Given the description of an element on the screen output the (x, y) to click on. 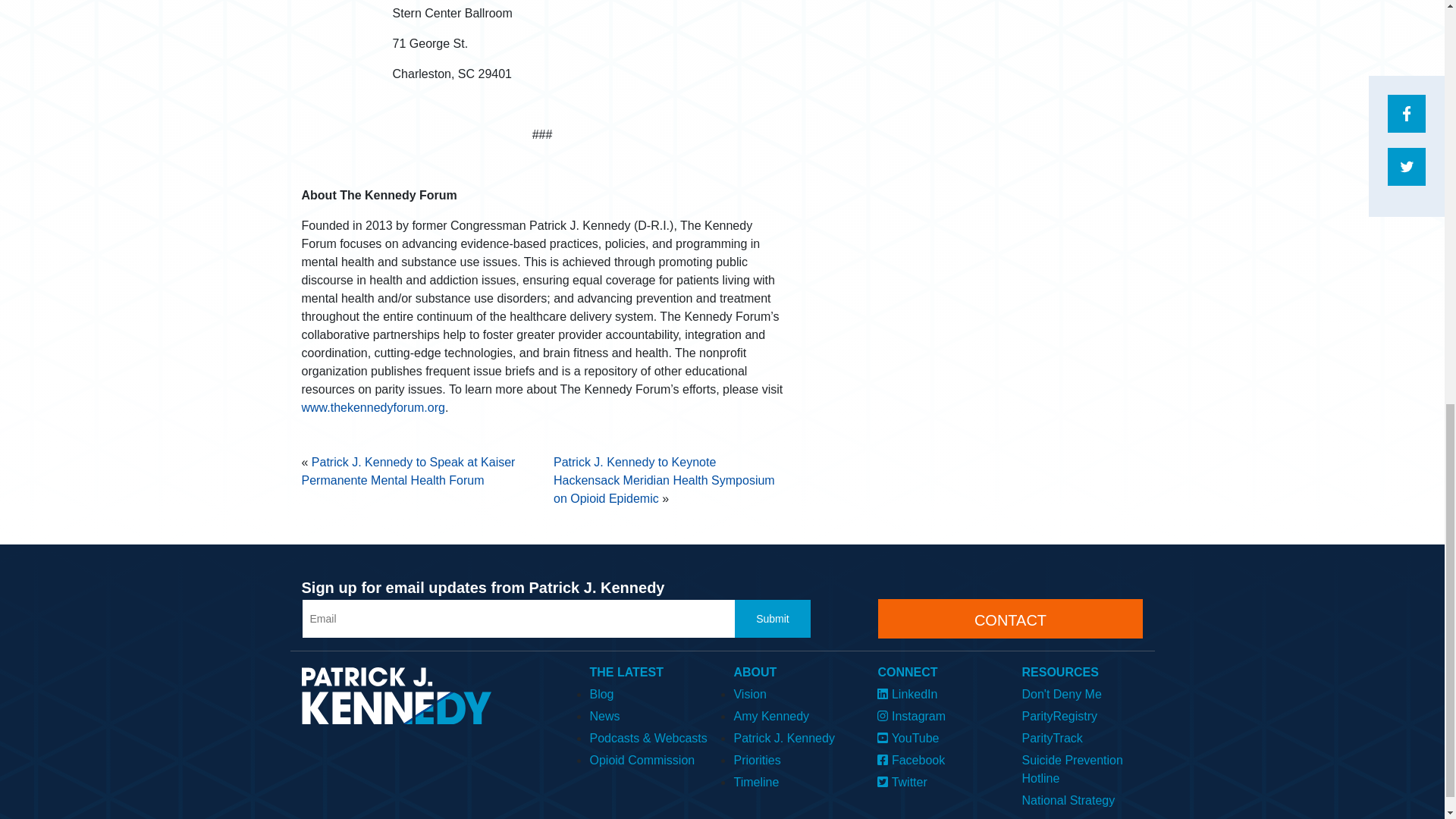
Facebook (937, 758)
CONTACT (1009, 618)
Vision (793, 692)
LinkedIn (937, 692)
Patrick J. Kennedy (793, 736)
YouTube (937, 736)
www.thekennedyforum.org (373, 407)
Amy Kennedy (793, 714)
Opioid Commission (649, 758)
Instagram (937, 714)
Twitter (937, 780)
Priorities (793, 758)
Submit (772, 618)
